Given the description of an element on the screen output the (x, y) to click on. 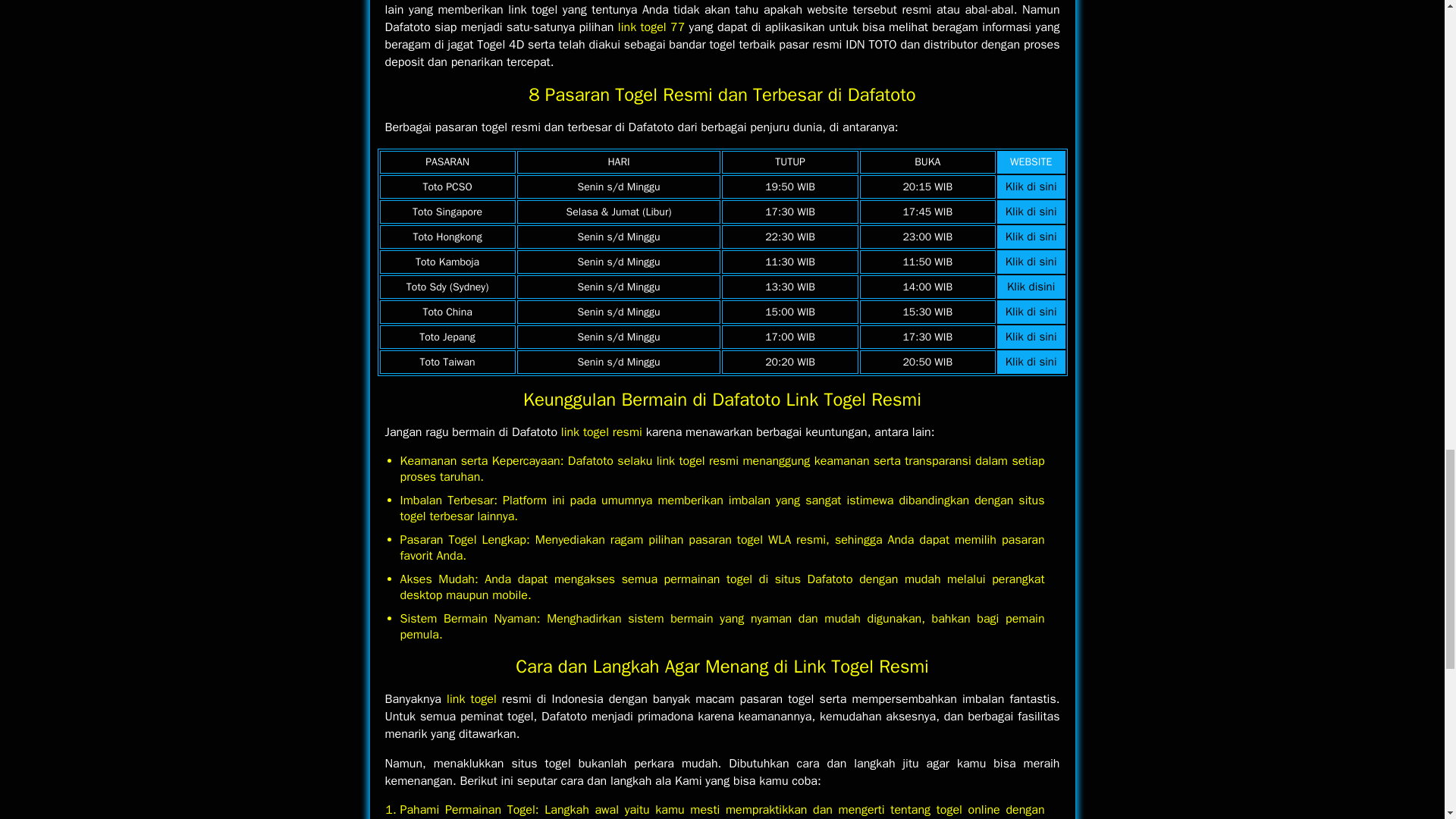
Klik di sini (1031, 311)
Klik di sini (1031, 336)
link togel 77 (650, 27)
Klik disini (1030, 286)
link togel 77 (650, 27)
Klik di sini (1031, 211)
link togel resmi (601, 432)
link togel (471, 698)
Klik di sini (1031, 236)
Klik di sini (1031, 186)
Klik di sini (1031, 261)
link togel resmi (601, 432)
Klik di sini (1031, 361)
link togel (471, 698)
